Given the description of an element on the screen output the (x, y) to click on. 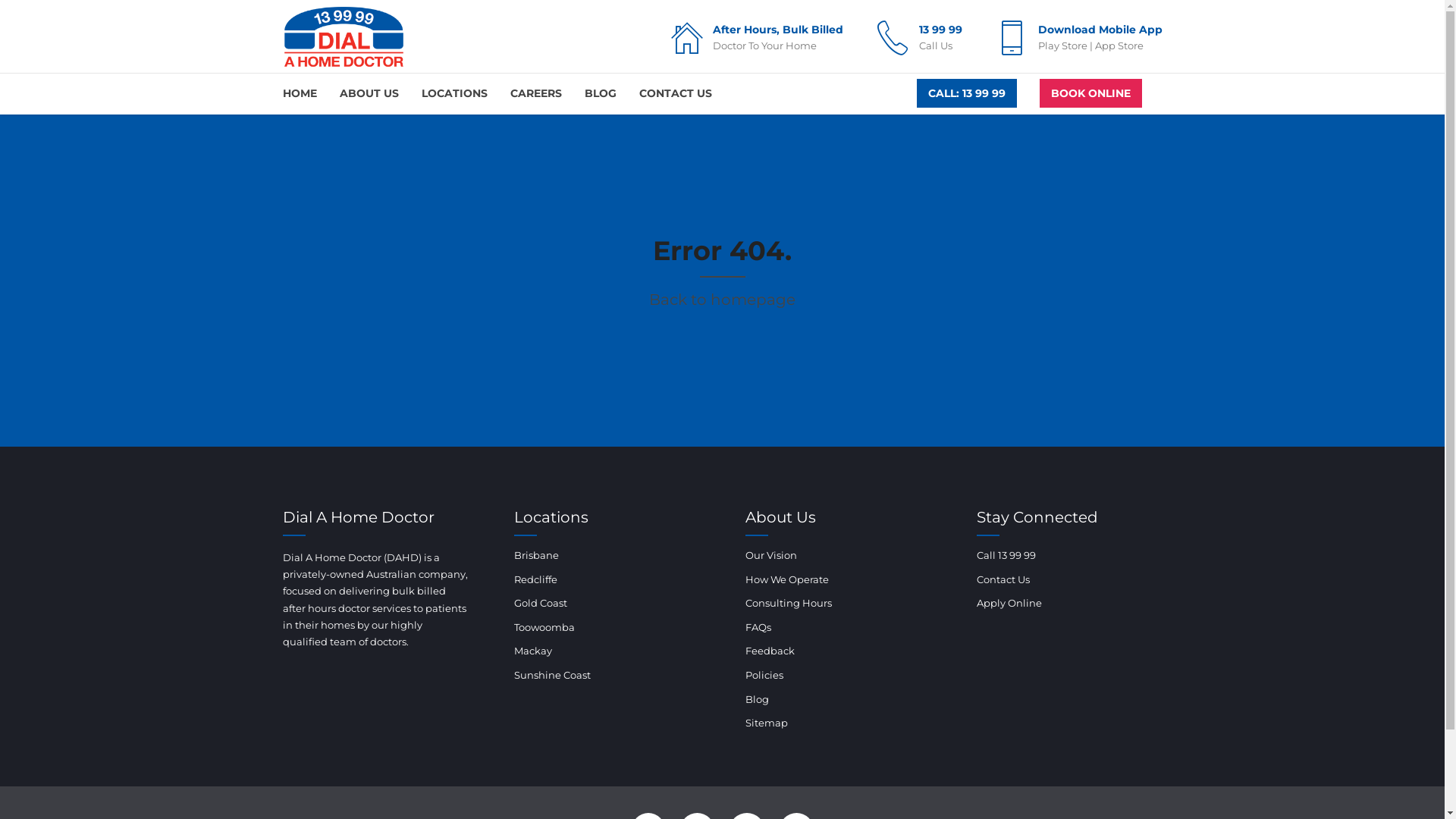
BOOK ONLINE Element type: text (1089, 92)
Toowoomba Element type: text (544, 627)
Consulting Hours Element type: text (787, 602)
Sunshine Coast Element type: text (552, 674)
Call 13 99 99 Element type: text (1005, 555)
Redcliffe Element type: text (535, 579)
Feedback Element type: text (768, 650)
CONTACT US Element type: text (674, 93)
After Hours, Bulk Billed
Doctor To Your Home Element type: text (754, 37)
Mackay Element type: text (533, 650)
CALL: 13 99 99 Element type: text (966, 92)
Brisbane Element type: text (536, 555)
Sitemap Element type: text (765, 722)
FAQs Element type: text (757, 627)
BLOG Element type: text (599, 93)
Policies Element type: text (763, 674)
Our Vision Element type: text (770, 555)
Contact Us Element type: text (1002, 579)
ABOUT US Element type: text (368, 93)
HOME Element type: text (299, 93)
LOCATIONS Element type: text (454, 93)
13 99 99
Call Us Element type: text (915, 37)
Download Mobile App
Play Store | App Store Element type: text (1075, 37)
How We Operate Element type: text (786, 579)
Back to homepage Element type: text (722, 299)
Gold Coast Element type: text (540, 602)
CAREERS Element type: text (535, 93)
Blog Element type: text (756, 699)
Apply Online Element type: text (1008, 602)
